Given the description of an element on the screen output the (x, y) to click on. 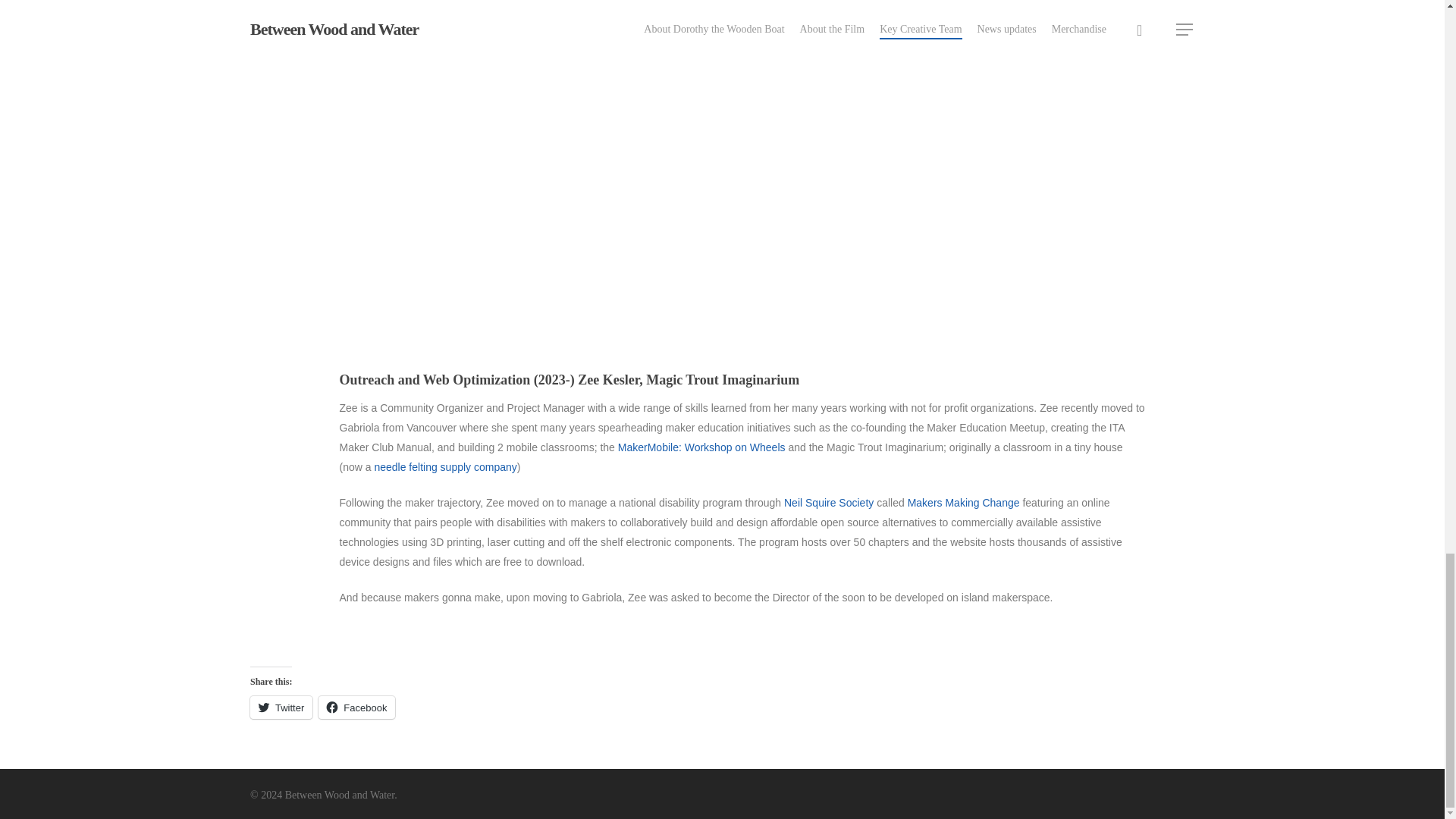
Click to share on Facebook (356, 707)
Neil Squire Society (828, 502)
MakerMobile: Workshop on Wheels (701, 447)
Twitter (281, 707)
Makers Making Change (963, 502)
Facebook (356, 707)
needle felting supply company (443, 467)
Click to share on Twitter (281, 707)
